Given the description of an element on the screen output the (x, y) to click on. 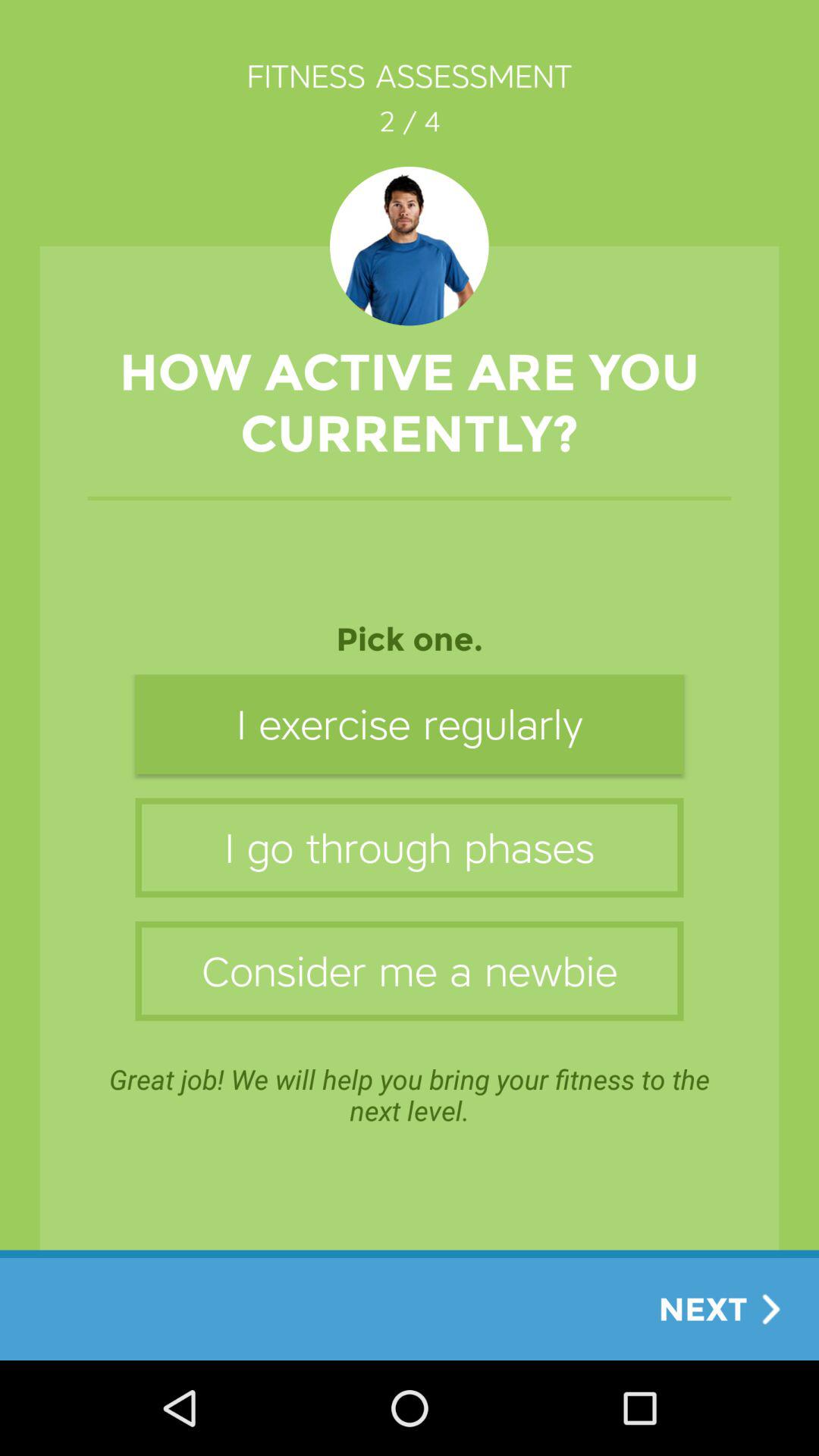
turn off i exercise regularly item (409, 724)
